Given the description of an element on the screen output the (x, y) to click on. 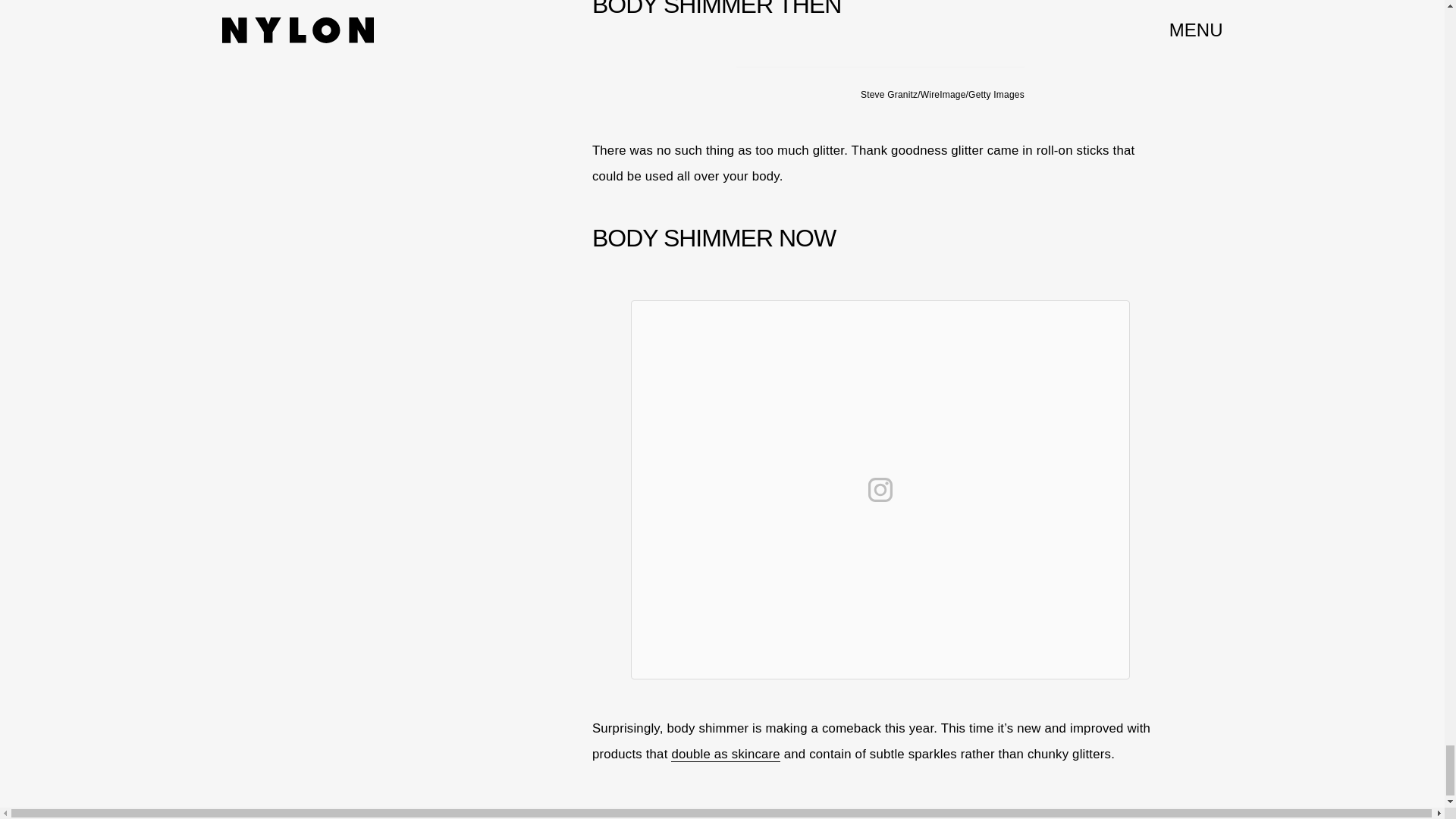
double as skincare (725, 754)
View on Instagram (879, 489)
